Given the description of an element on the screen output the (x, y) to click on. 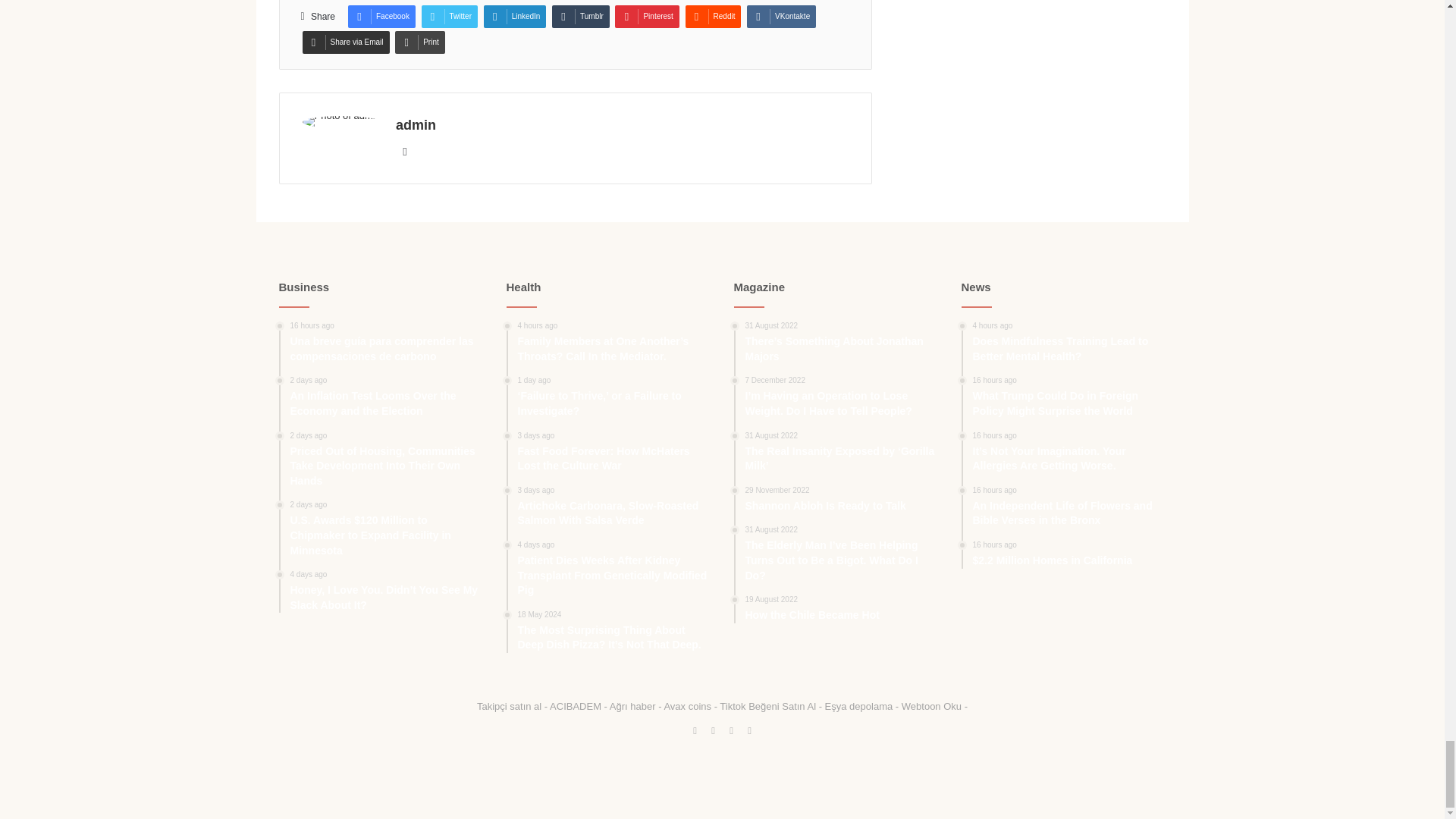
admin (415, 124)
Website (404, 151)
Pinterest (646, 15)
LinkedIn (515, 15)
VKontakte (780, 15)
Twitter (449, 15)
Twitter (449, 15)
Reddit (713, 15)
Reddit (713, 15)
Tumblr (580, 15)
Facebook (380, 15)
LinkedIn (515, 15)
Print (419, 42)
Pinterest (646, 15)
Tumblr (580, 15)
